Given the description of an element on the screen output the (x, y) to click on. 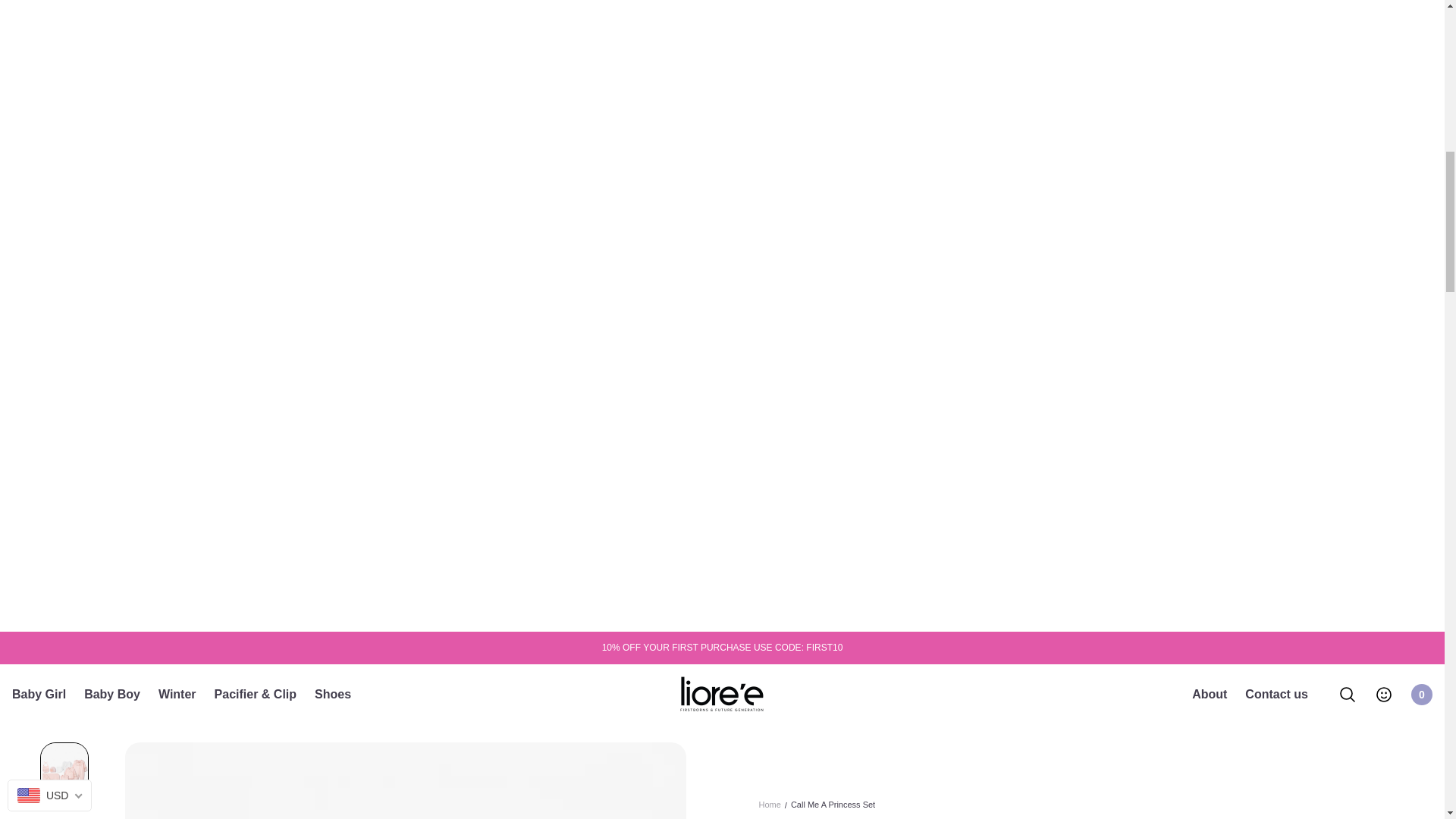
Baby Girl (38, 694)
Winter (177, 694)
Contact us (1275, 694)
Shoes (332, 694)
LIORE'e (721, 693)
Baby Boy (111, 694)
About (1209, 694)
Home (769, 804)
Open account page (1383, 694)
Open search (1421, 694)
